Given the description of an element on the screen output the (x, y) to click on. 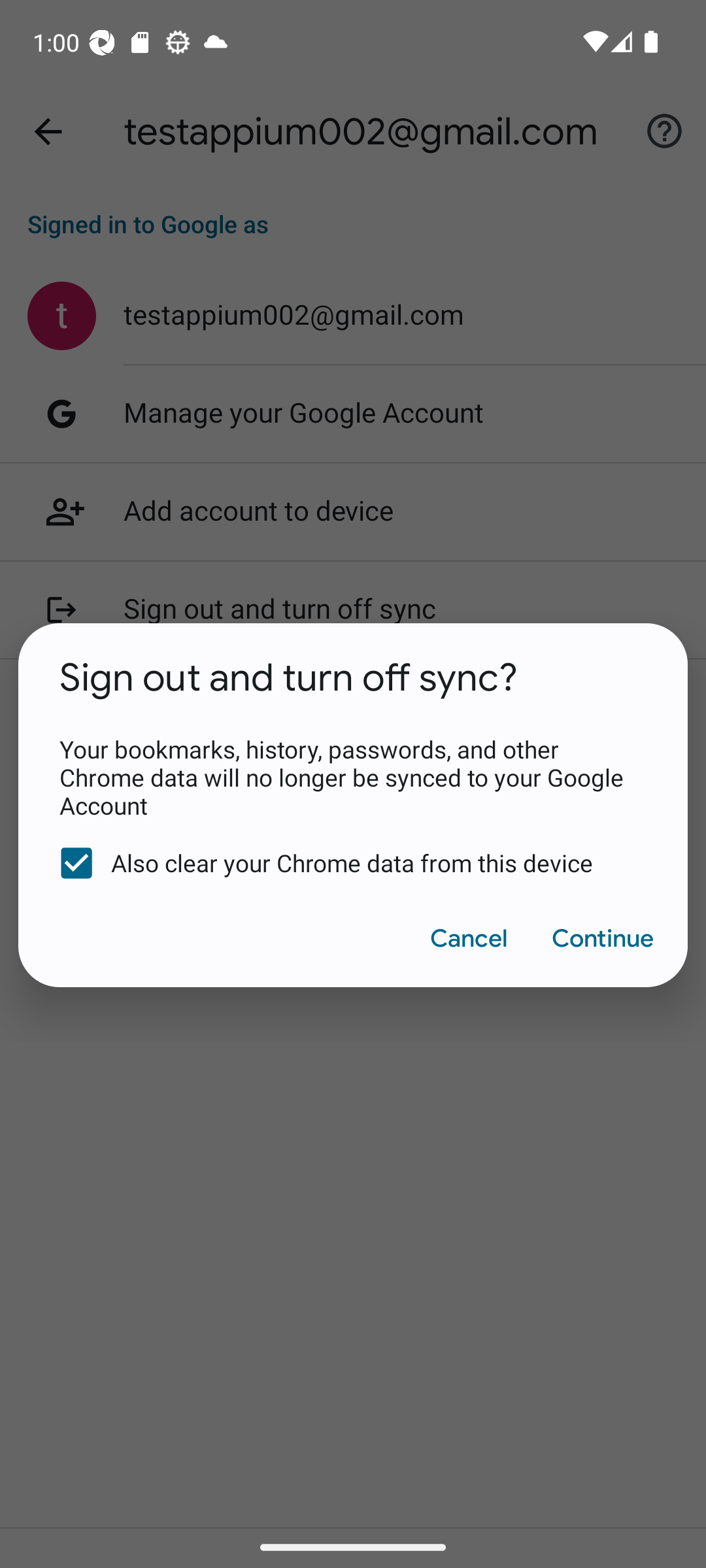
Also clear your Chrome data from this device (340, 862)
Cancel (468, 938)
Continue (601, 938)
